Given the description of an element on the screen output the (x, y) to click on. 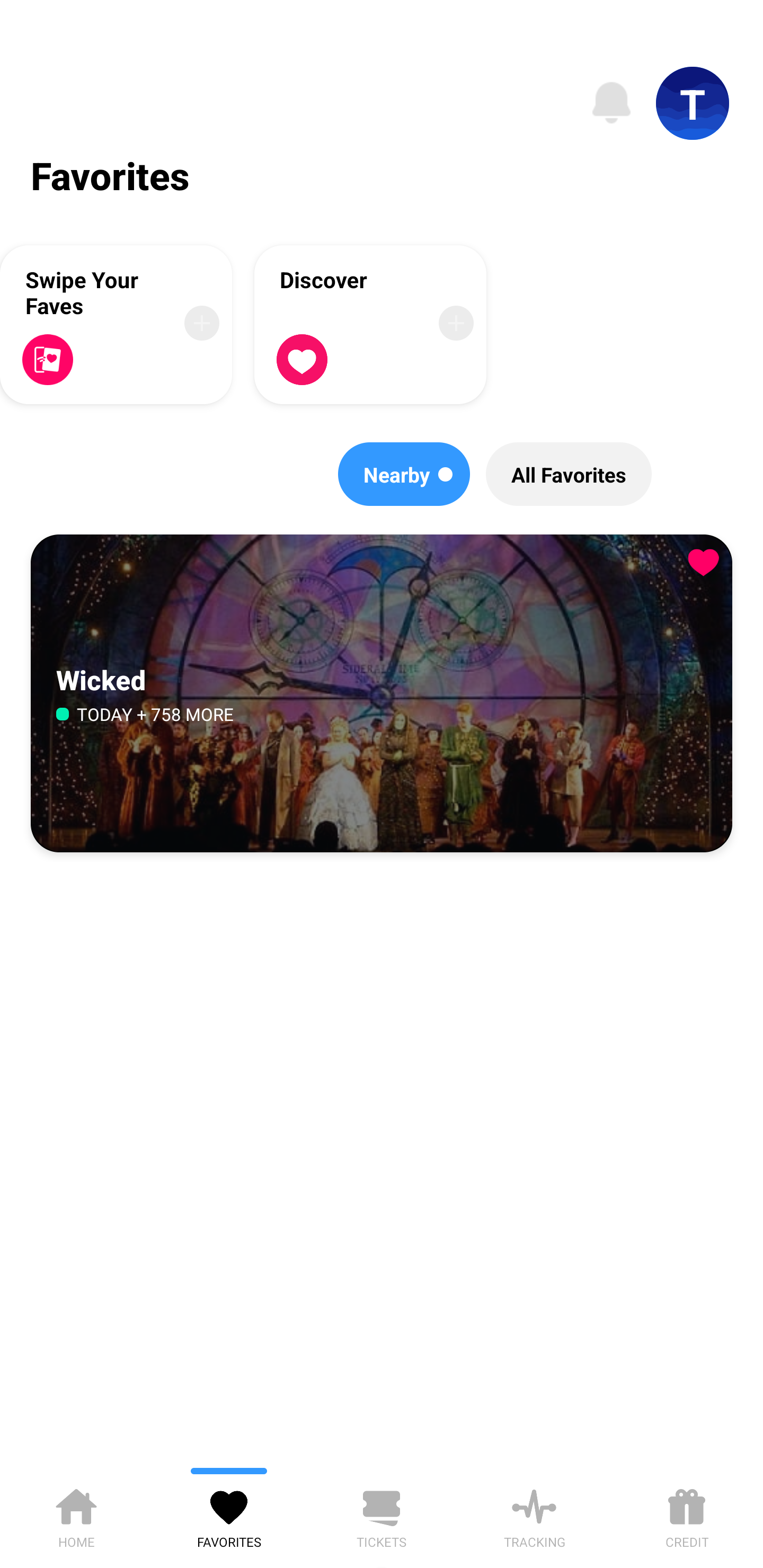
T (692, 103)
Swipe Your  Faves (115, 324)
Discover (370, 324)
Nearby (404, 474)
All Favorites (568, 474)
Wicked, TODAY + 758 MORE  Wicked TODAY + 758 MORE  (381, 693)
HOME (76, 1515)
FAVORITES (228, 1515)
TICKETS (381, 1515)
TRACKING (533, 1515)
CREDIT (686, 1515)
